Given the description of an element on the screen output the (x, y) to click on. 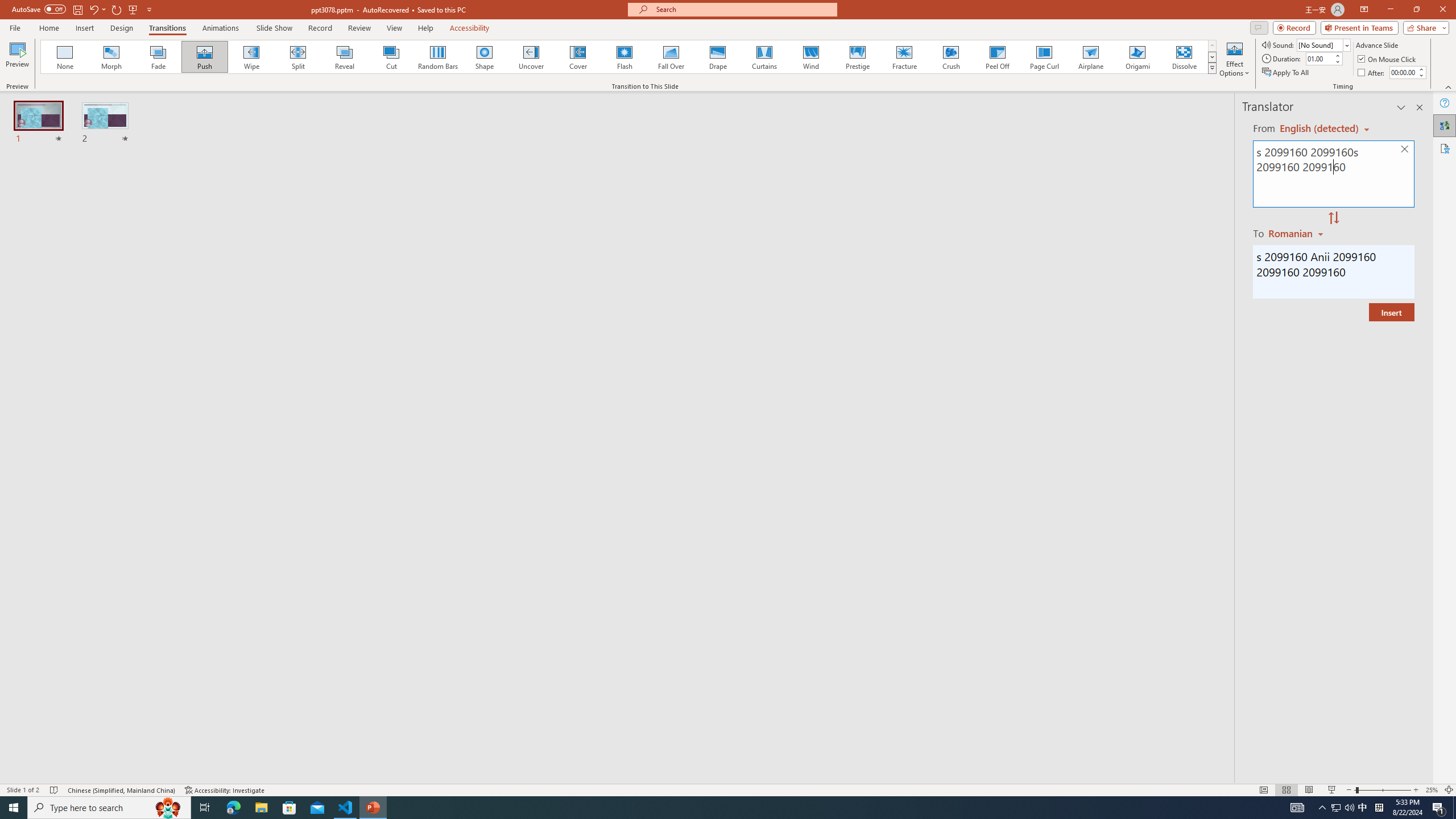
Romanian (1296, 232)
Page Curl (1043, 56)
Curtains (764, 56)
Clear text (1404, 149)
